Given the description of an element on the screen output the (x, y) to click on. 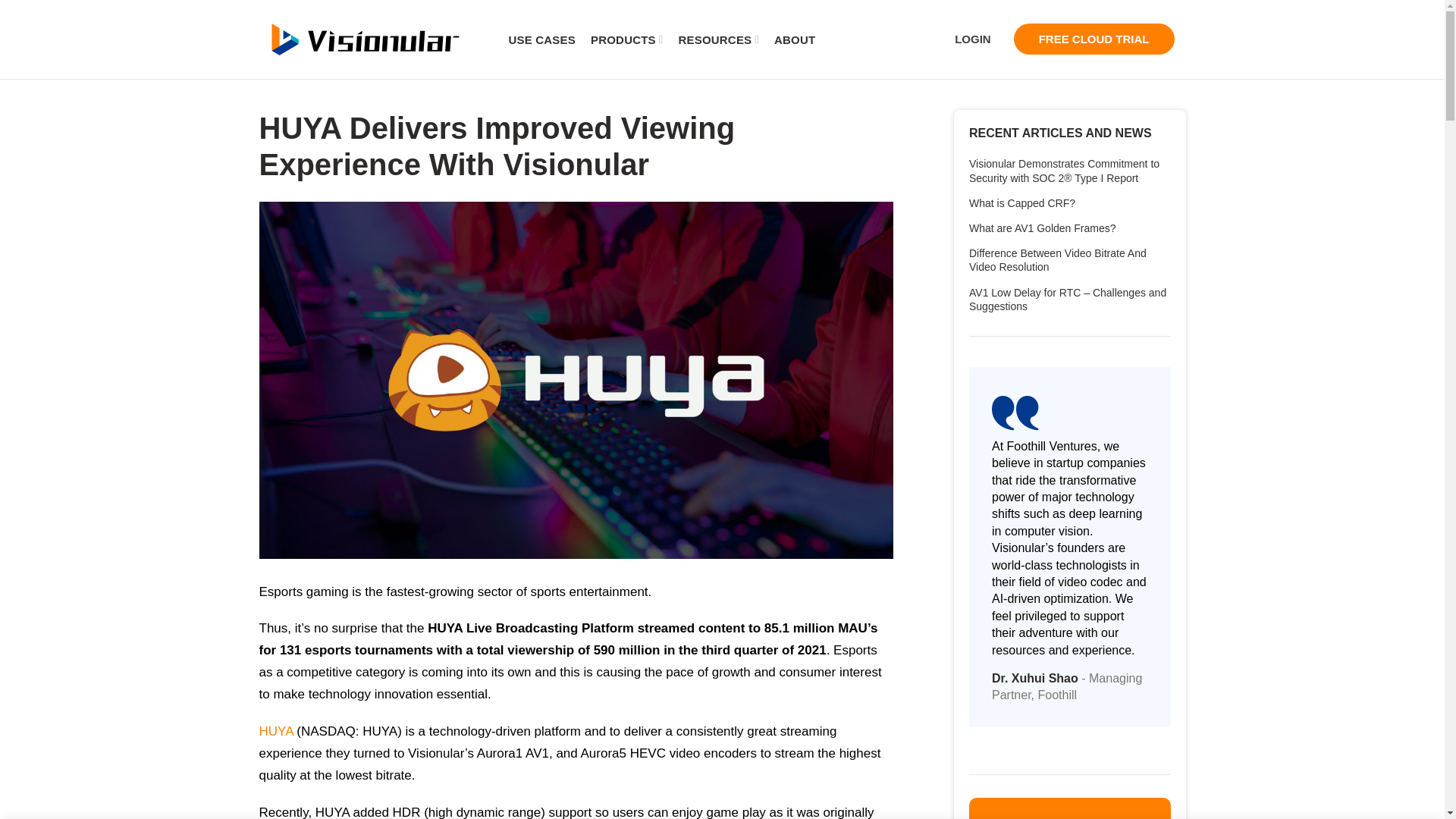
RESOURCES (718, 39)
ABOUT (794, 39)
LOGIN (973, 38)
HUYA (276, 730)
FREE CLOUD TRIAL (1093, 38)
USE CASES (541, 39)
PRODUCTS (626, 39)
